Given the description of an element on the screen output the (x, y) to click on. 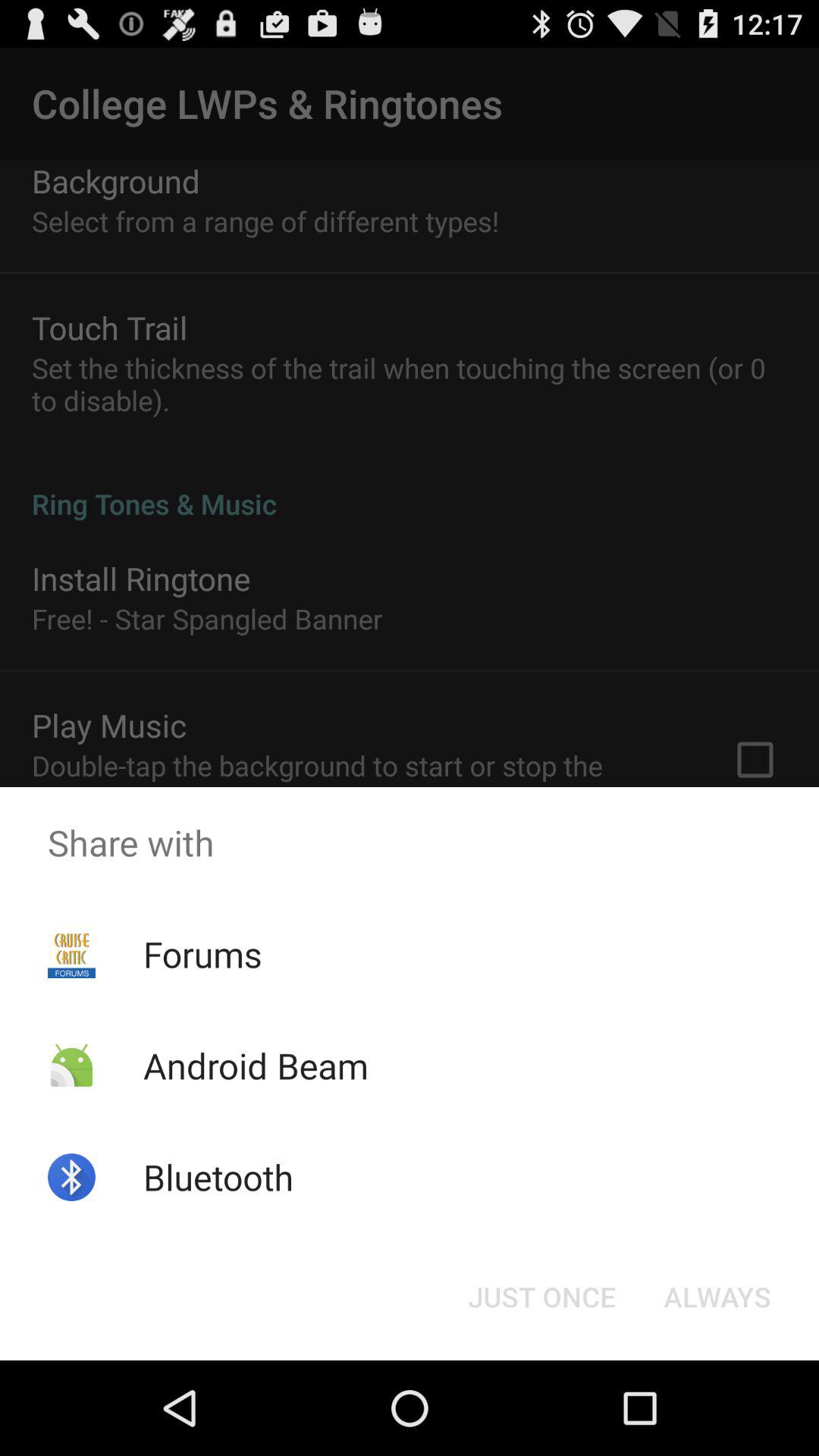
choose the button at the bottom right corner (717, 1296)
